Given the description of an element on the screen output the (x, y) to click on. 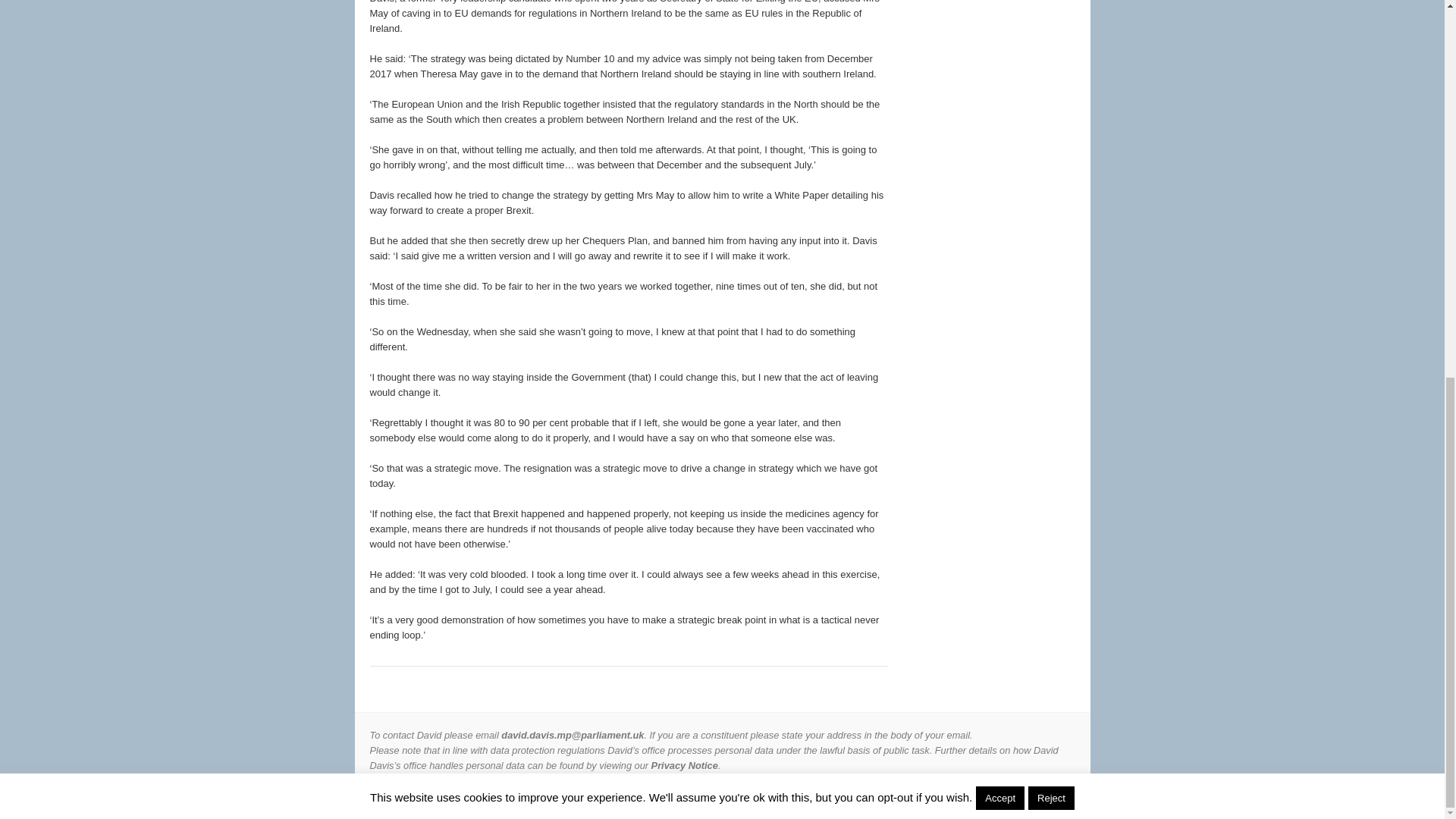
stuart (1024, 795)
Rt Hon David Davis MP (457, 795)
Stuart Smitheringale. WordPress Websites. (1024, 795)
Privacy Notice (683, 765)
blue ice (1059, 795)
Reject (1050, 100)
Blue Ice Website Design - WordPress Websites (1059, 795)
Accept (1000, 100)
